Given the description of an element on the screen output the (x, y) to click on. 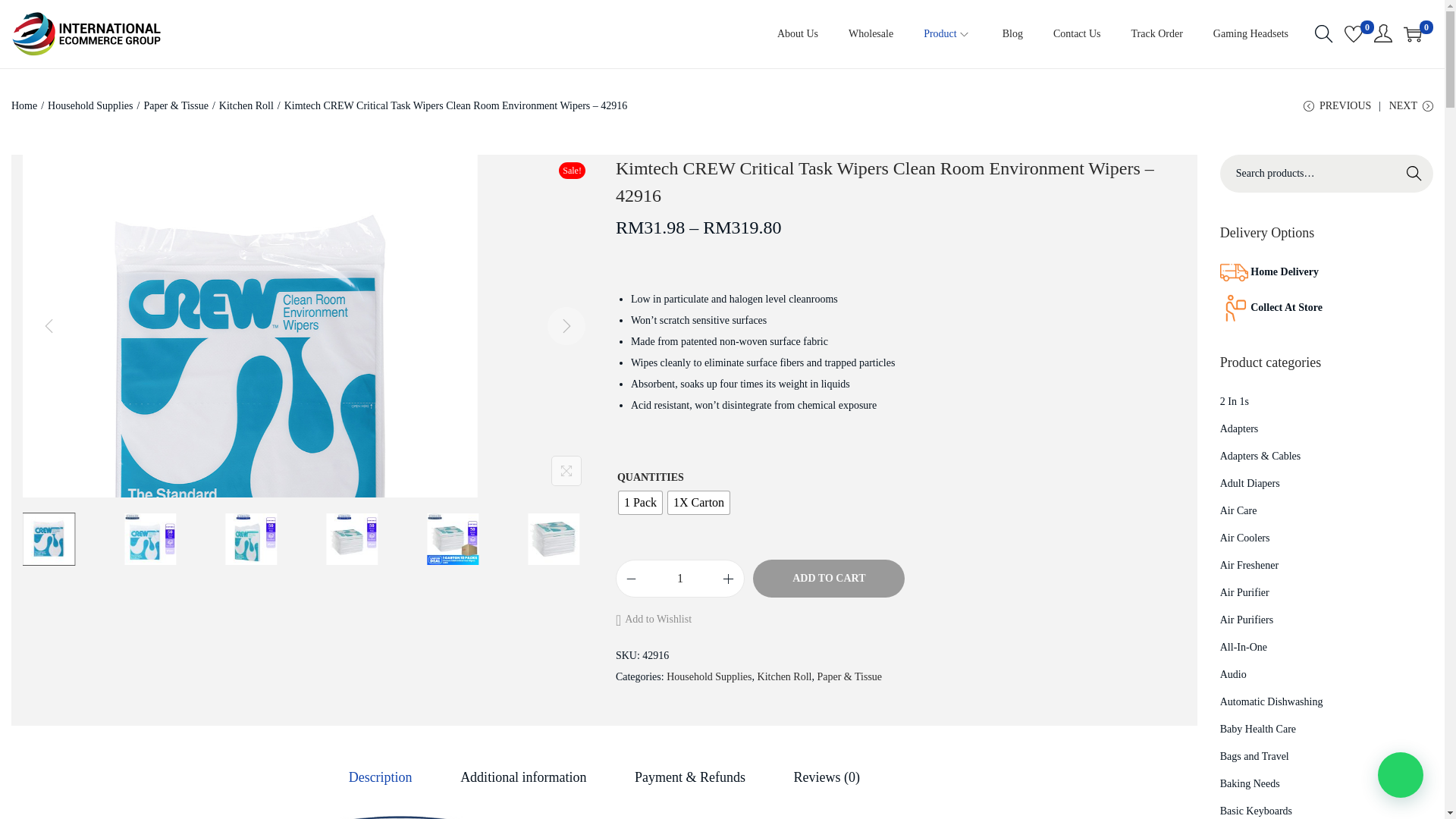
1 Pack (640, 502)
1X Carton (698, 502)
1 (679, 578)
